Given the description of an element on the screen output the (x, y) to click on. 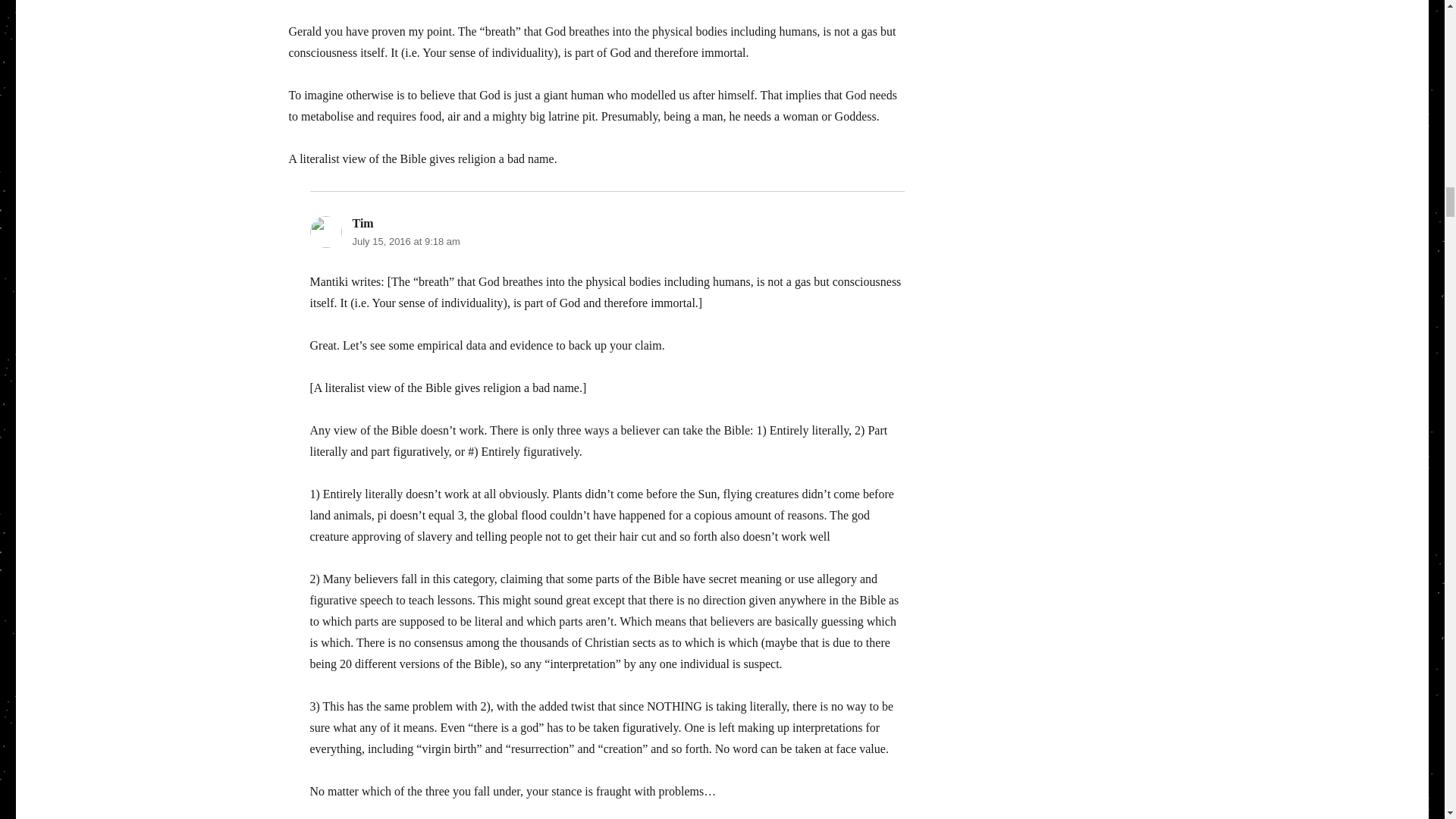
July 15, 2016 at 9:18 am (406, 241)
